Given the description of an element on the screen output the (x, y) to click on. 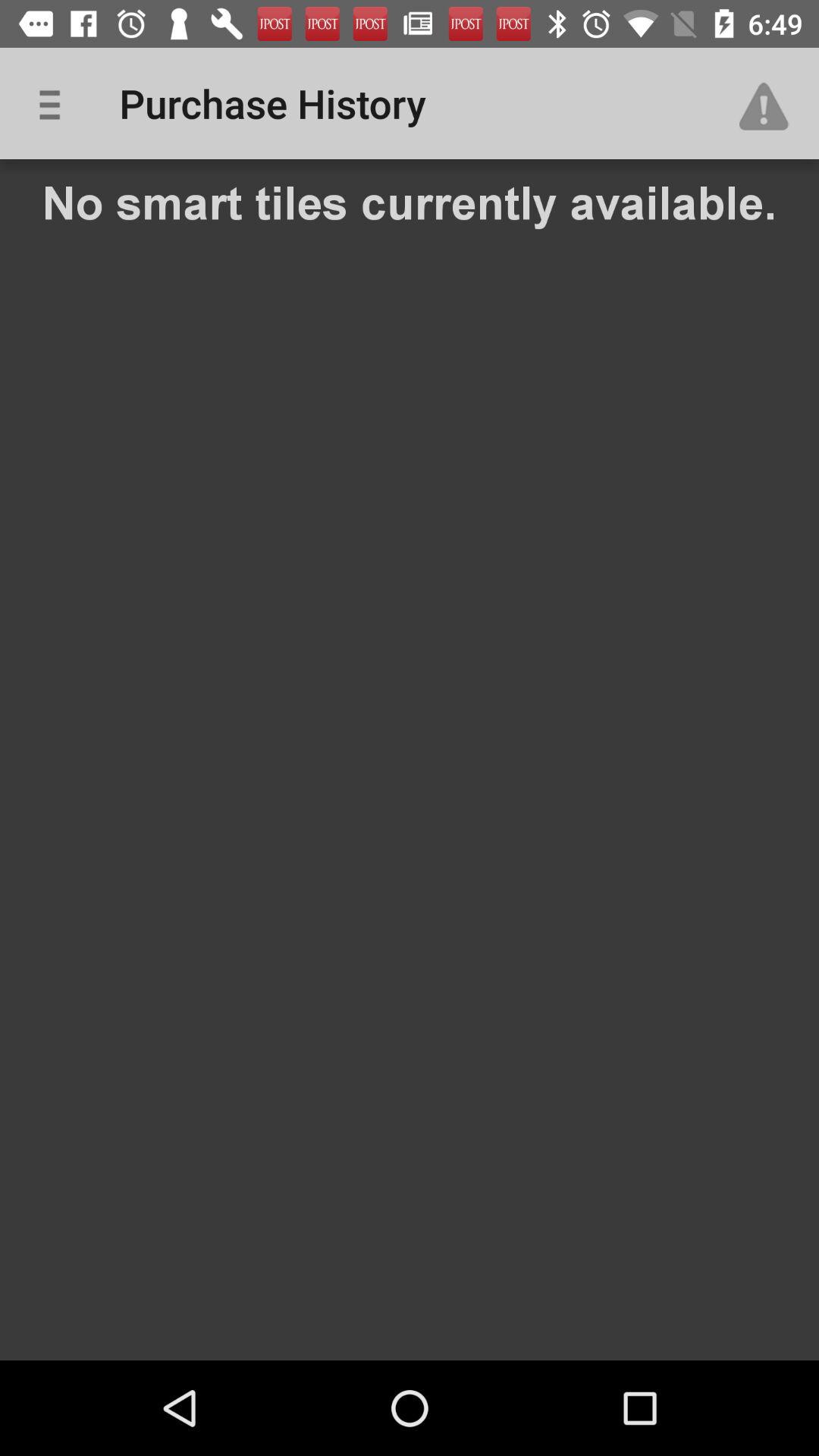
turn on app next to the purchase history app (771, 103)
